Given the description of an element on the screen output the (x, y) to click on. 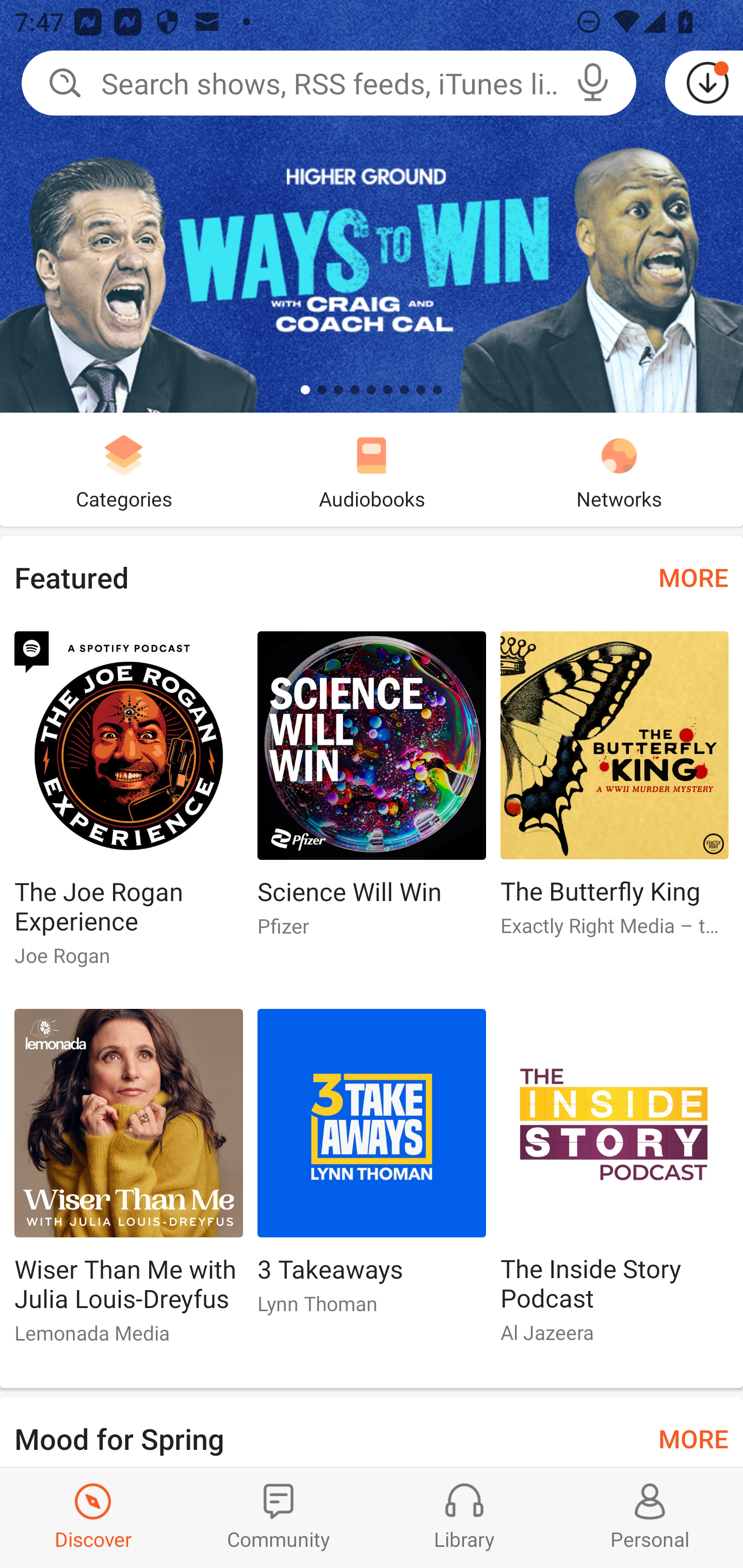
Ways To Win (371, 206)
Categories (123, 469)
Audiobooks (371, 469)
Networks (619, 469)
MORE (693, 576)
Science Will Win Science Will Win Pfizer (371, 792)
3 Takeaways 3 Takeaways Lynn Thoman (371, 1169)
MORE (693, 1436)
Discover (92, 1517)
Community (278, 1517)
Library (464, 1517)
Profiles and Settings Personal (650, 1517)
